Given the description of an element on the screen output the (x, y) to click on. 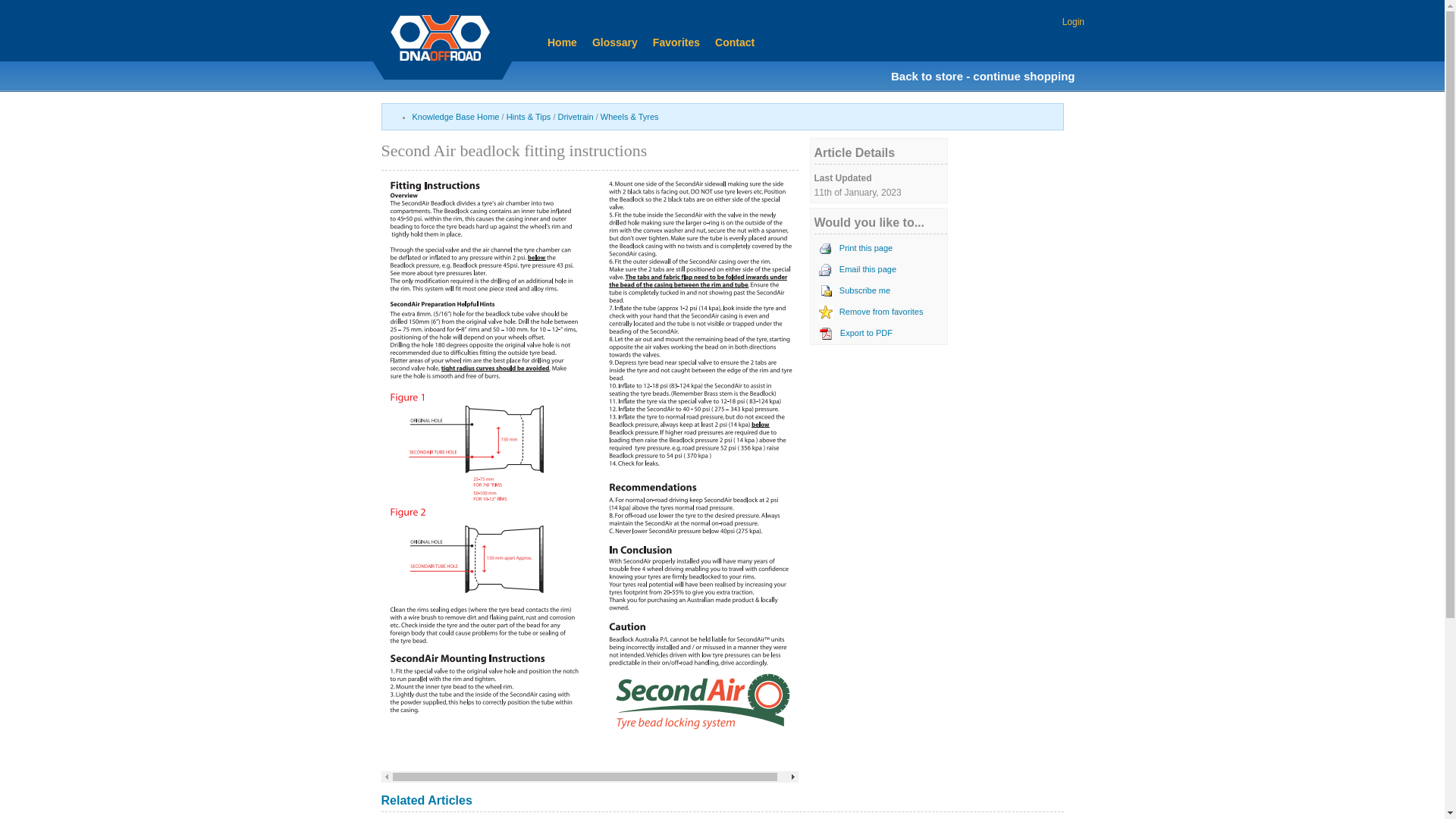
Login Element type: text (1073, 21)
Remove from favorites Element type: text (881, 311)
Contact Element type: text (734, 42)
Subscribe me Element type: text (864, 289)
Drivetrain Element type: text (575, 116)
Home Element type: text (562, 42)
Print this page Element type: text (865, 247)
Glossary Element type: text (614, 42)
Favorites Element type: text (675, 42)
Back to store - continue shopping Element type: text (983, 75)
DNA Off Road Homepage Element type: hover (439, 37)
Export to PDF Element type: text (866, 332)
Knowledge Base Home Element type: text (455, 116)
Hints & Tips Element type: text (528, 116)
Email this page Element type: text (867, 268)
Wheels & Tyres Element type: text (629, 116)
